Given the description of an element on the screen output the (x, y) to click on. 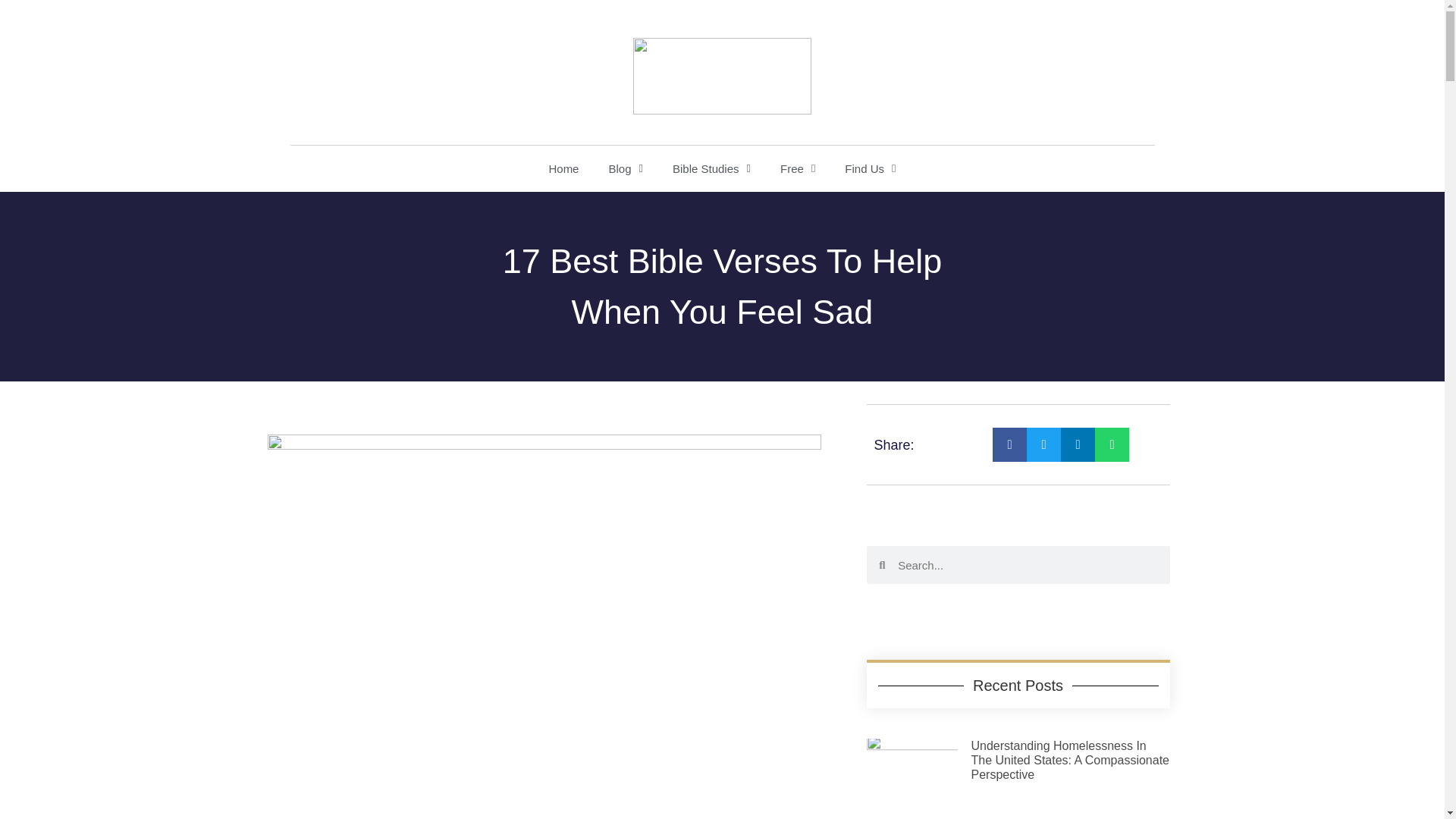
Home (563, 168)
Find Us (869, 168)
Free (797, 168)
Blog (625, 168)
Bible Studies (711, 168)
